Given the description of an element on the screen output the (x, y) to click on. 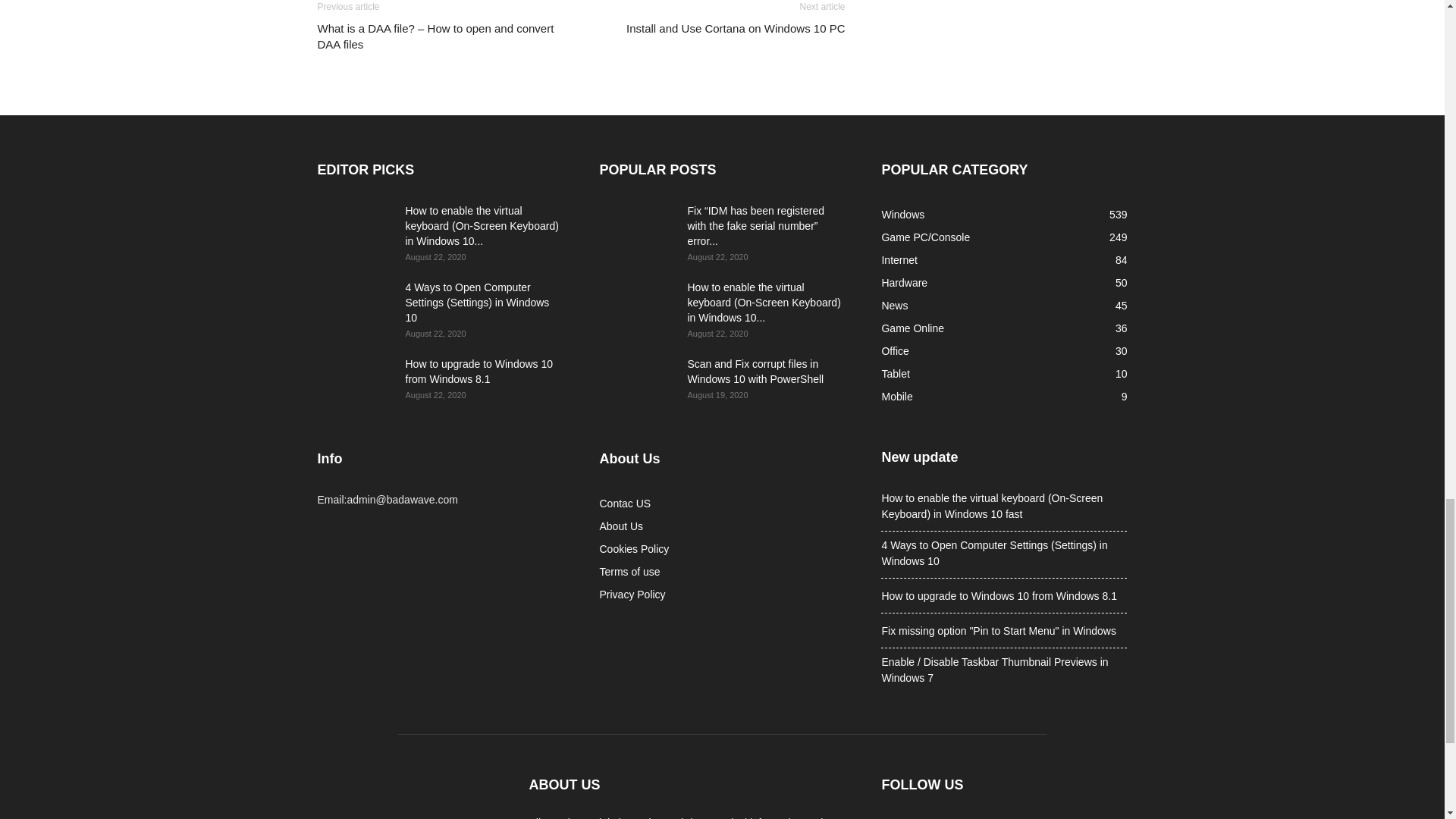
Install and Use Cortana on Windows 10 PC (735, 28)
